Given the description of an element on the screen output the (x, y) to click on. 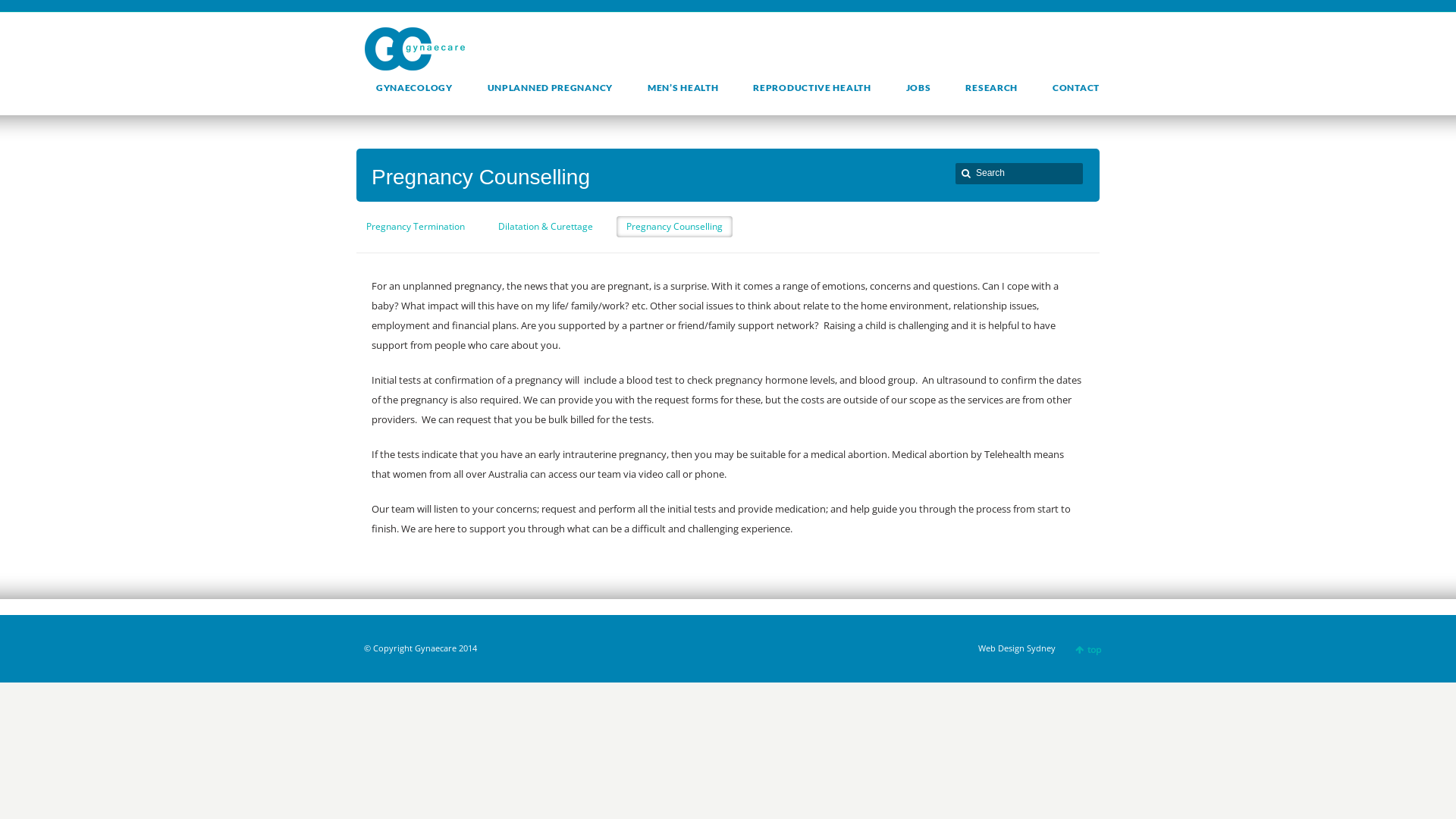
Web Design Sydney Element type: text (1016, 647)
Pregnancy Counselling Element type: text (674, 226)
UNPLANNED PREGNANCY Element type: text (549, 87)
GYNAECOLOGY Element type: text (414, 87)
Pregnancy Termination Element type: text (415, 226)
JOBS Element type: text (918, 87)
REPRODUCTIVE HEALTH Element type: text (811, 87)
CONTACT Element type: text (1075, 87)
search Element type: text (966, 172)
RESEARCH Element type: text (991, 87)
top Element type: text (1087, 648)
Dilatation & Curettage Element type: text (545, 226)
